Given the description of an element on the screen output the (x, y) to click on. 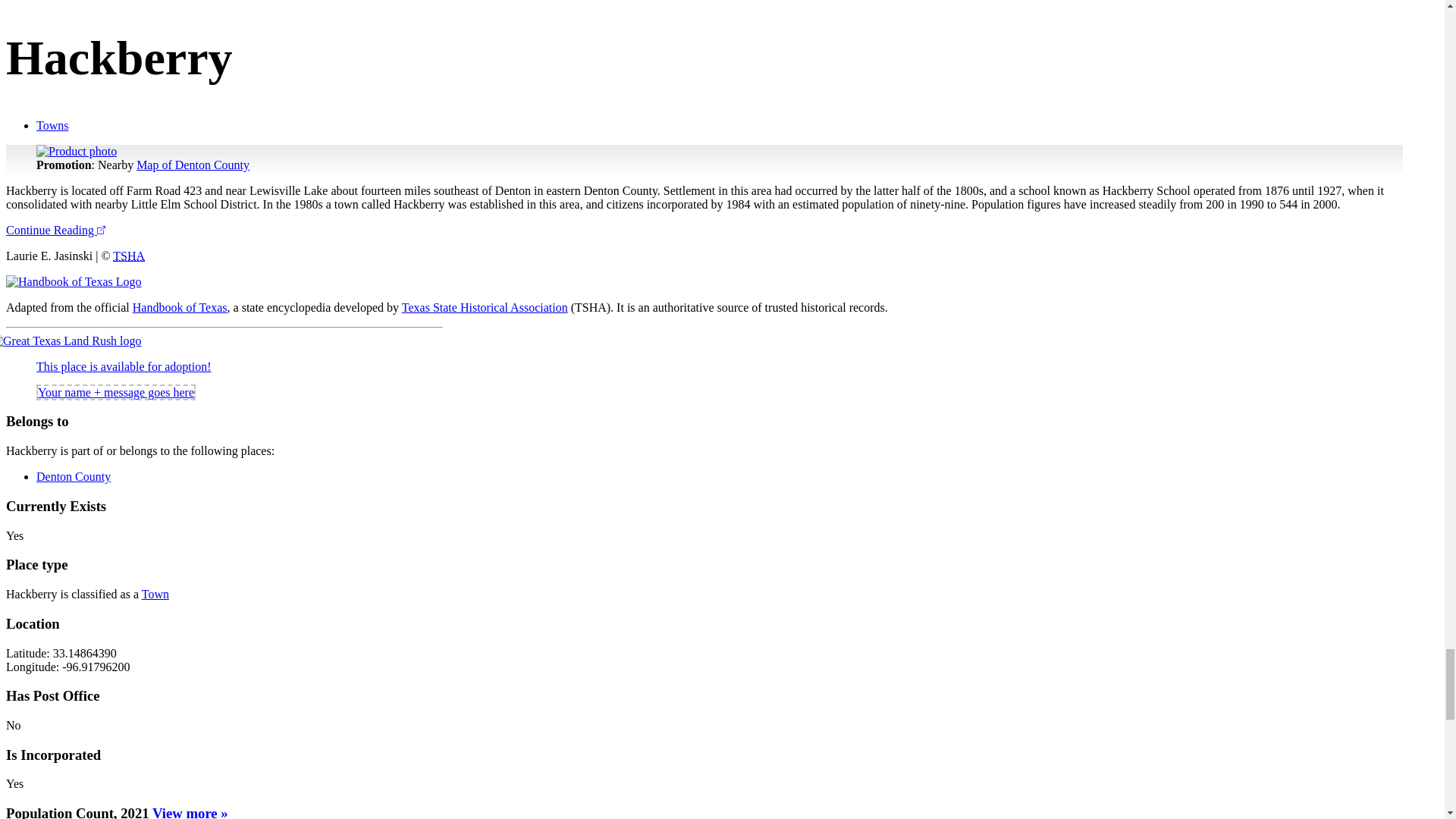
TSHA (128, 255)
Texas State Historical Association (484, 307)
Denton County (73, 476)
Towns (52, 124)
Town (154, 594)
Continue Reading (54, 229)
Texas State Historical Association (128, 255)
Handbook of Texas (179, 307)
Map of Denton County (192, 164)
This place is available for adoption! (123, 366)
